Given the description of an element on the screen output the (x, y) to click on. 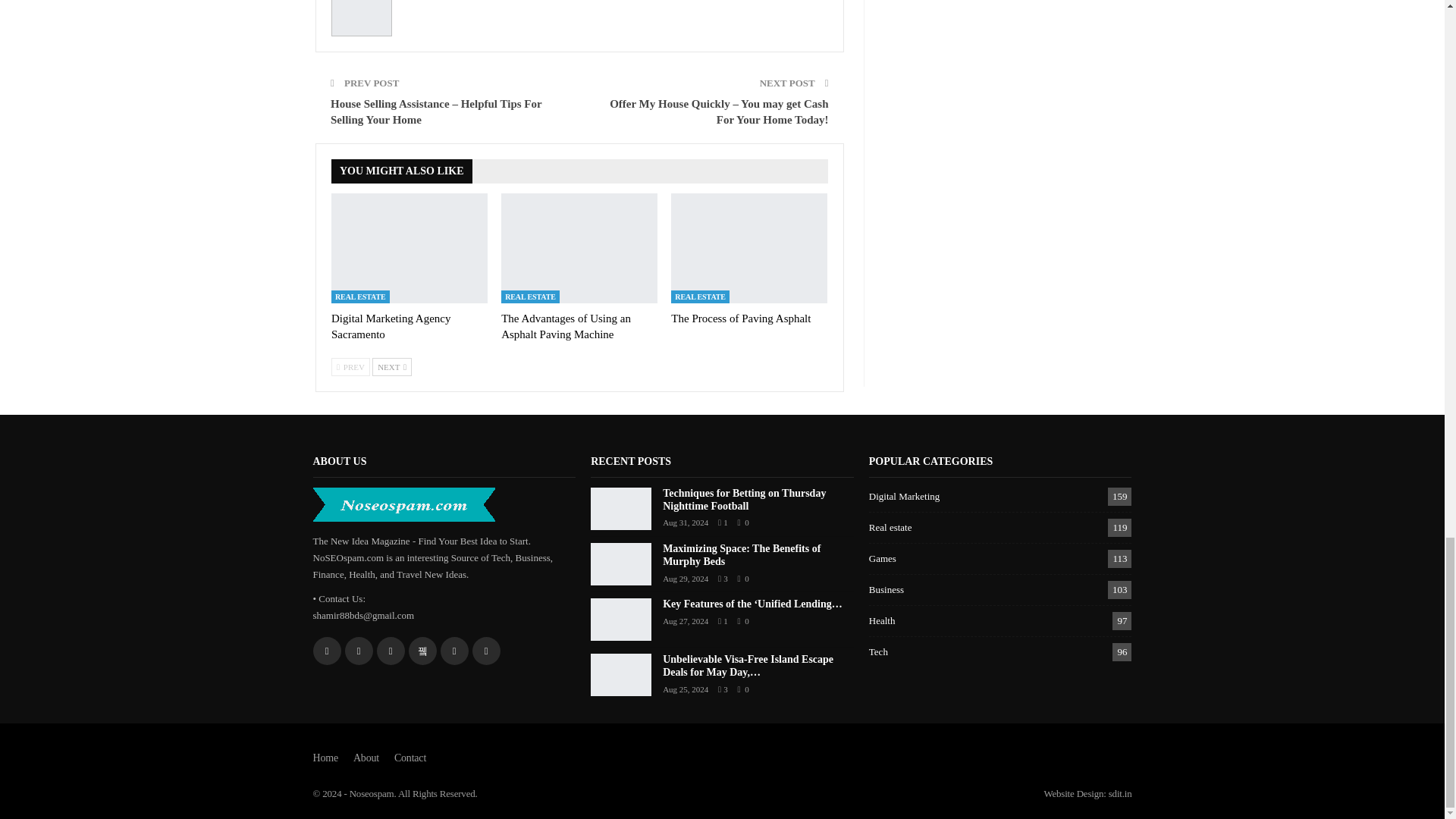
Digital Marketing Agency Sacramento (390, 326)
Digital Marketing Agency Sacramento (409, 247)
The Advantages of Using an Asphalt Paving Machine (565, 326)
The Process of Paving Asphalt (740, 318)
The Process of Paving Asphalt (749, 247)
Previous (350, 366)
The Advantages of Using an Asphalt Paving Machine (579, 247)
Next (392, 366)
